Given the description of an element on the screen output the (x, y) to click on. 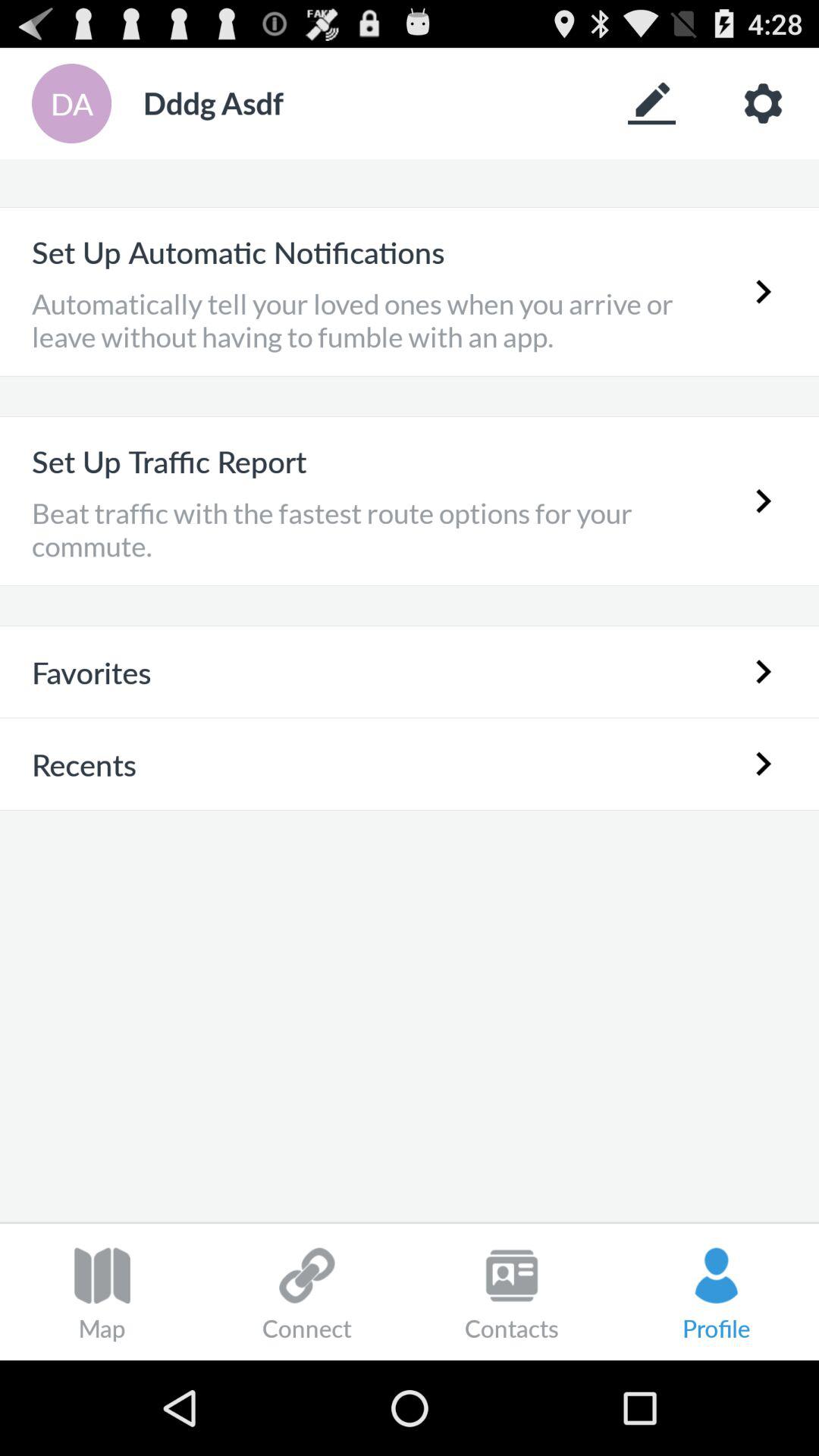
settings (763, 103)
